Given the description of an element on the screen output the (x, y) to click on. 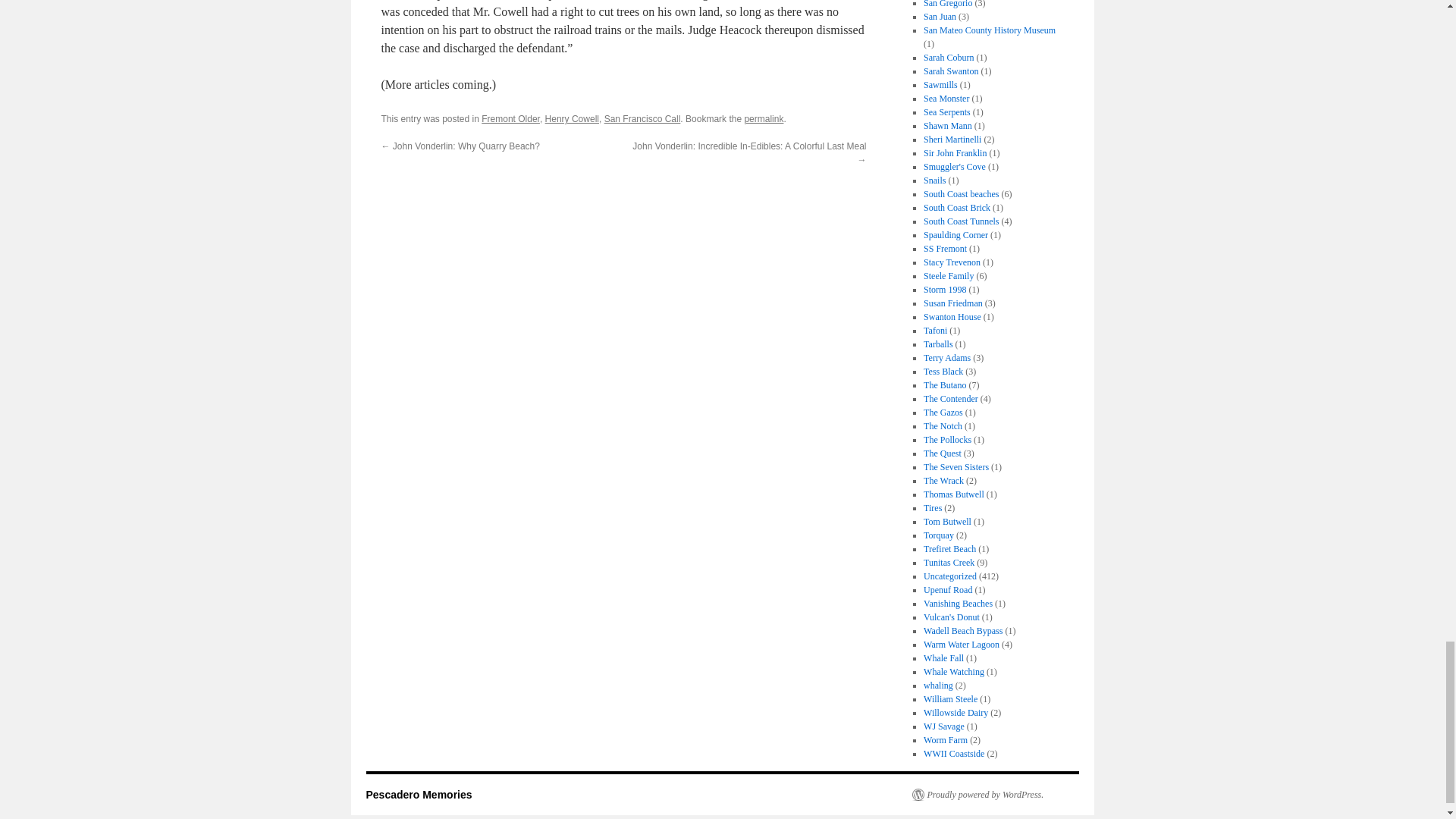
Semantic Personal Publishing Platform (977, 794)
San Francisco Call (642, 118)
Fremont Older (510, 118)
Henry Cowell (571, 118)
permalink (763, 118)
Pescadero Memories (418, 794)
